Given the description of an element on the screen output the (x, y) to click on. 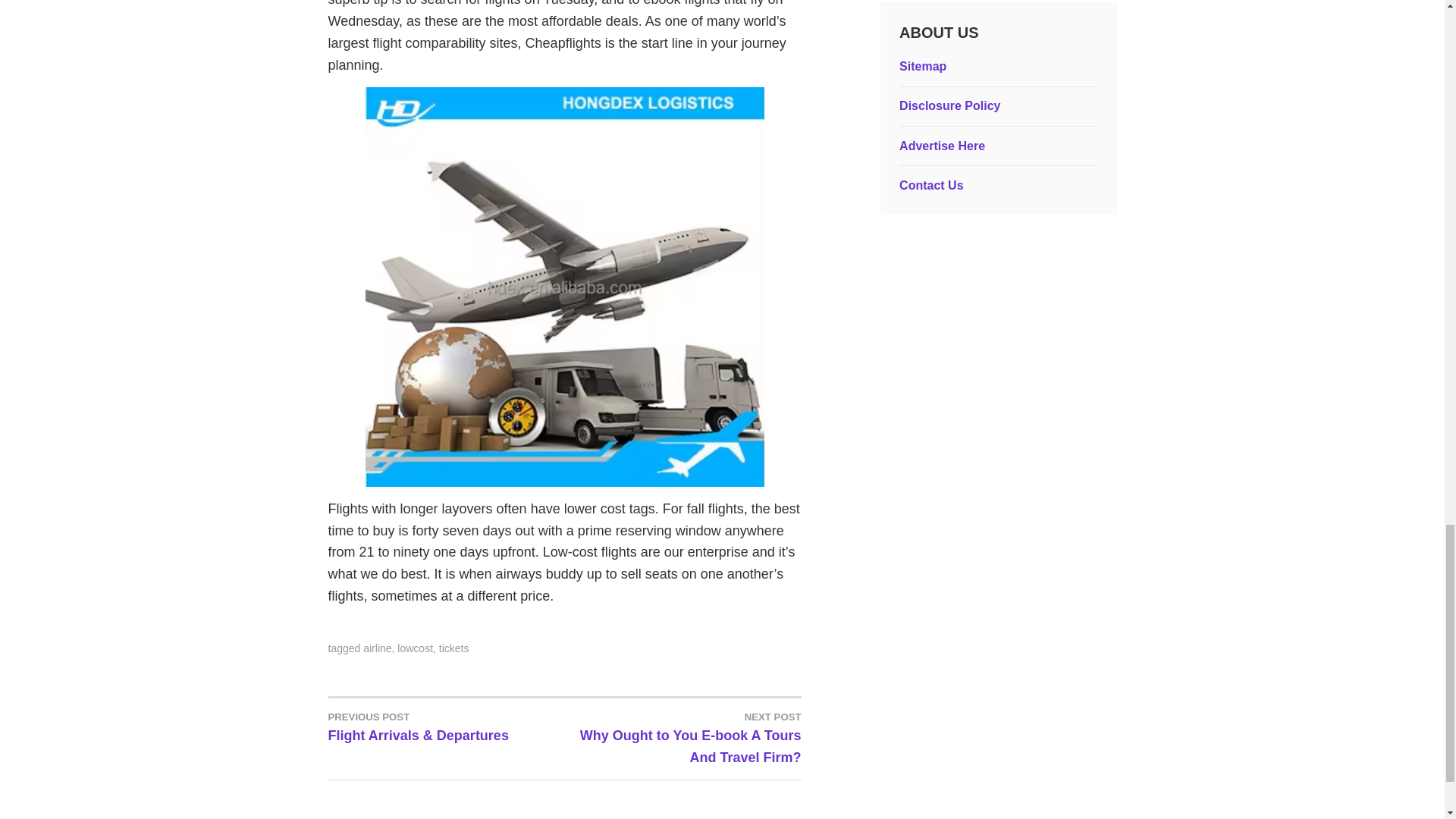
airline (376, 648)
lowcost (682, 736)
tickets (414, 648)
